Given the description of an element on the screen output the (x, y) to click on. 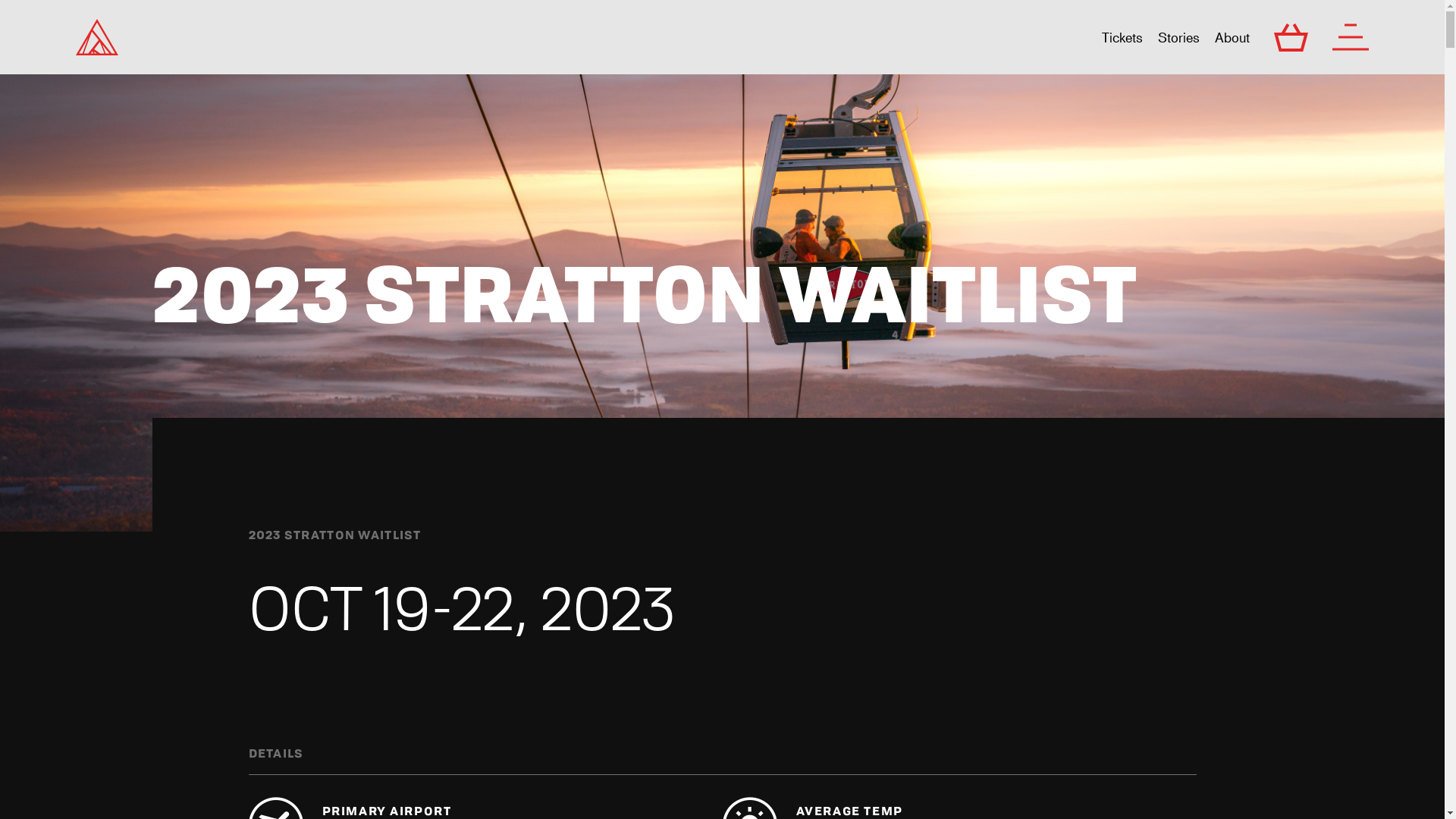
Stories Element type: text (1178, 36)
About Element type: text (1231, 36)
Tickets Element type: text (1121, 36)
